Given the description of an element on the screen output the (x, y) to click on. 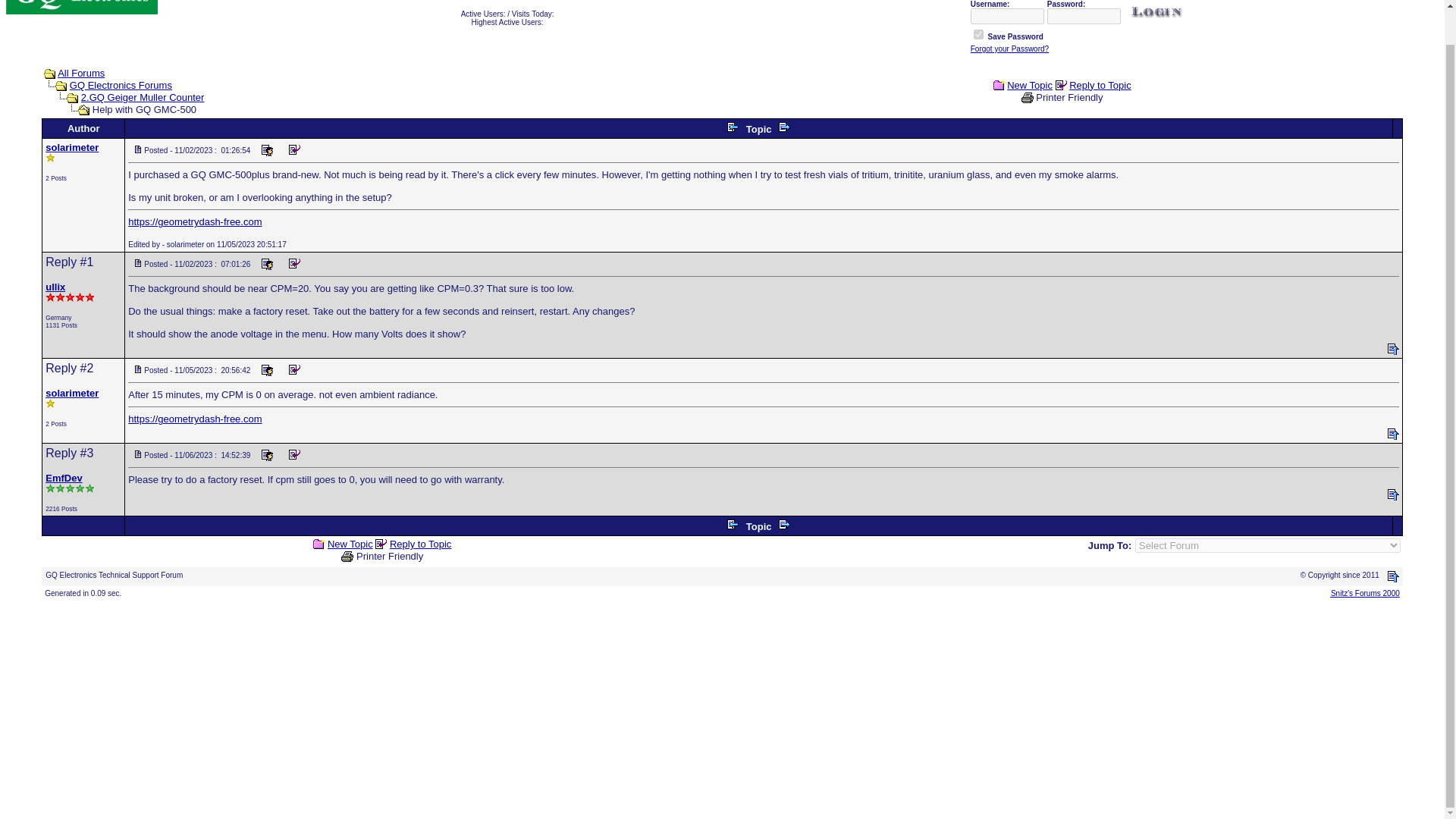
GQ Electronics Forums (120, 84)
New Topic (1029, 84)
true (979, 34)
Printer Friendly (1068, 97)
Login (1157, 12)
Forgot your Password? (1009, 49)
EmfDev (63, 478)
GQ Electronics Technical Support Forum (81, 7)
ullix (55, 286)
solarimeter (72, 147)
All Forums (81, 72)
2.GQ Geiger Muller Counter (143, 97)
solarimeter (72, 392)
Reply to Topic (1099, 84)
